Given the description of an element on the screen output the (x, y) to click on. 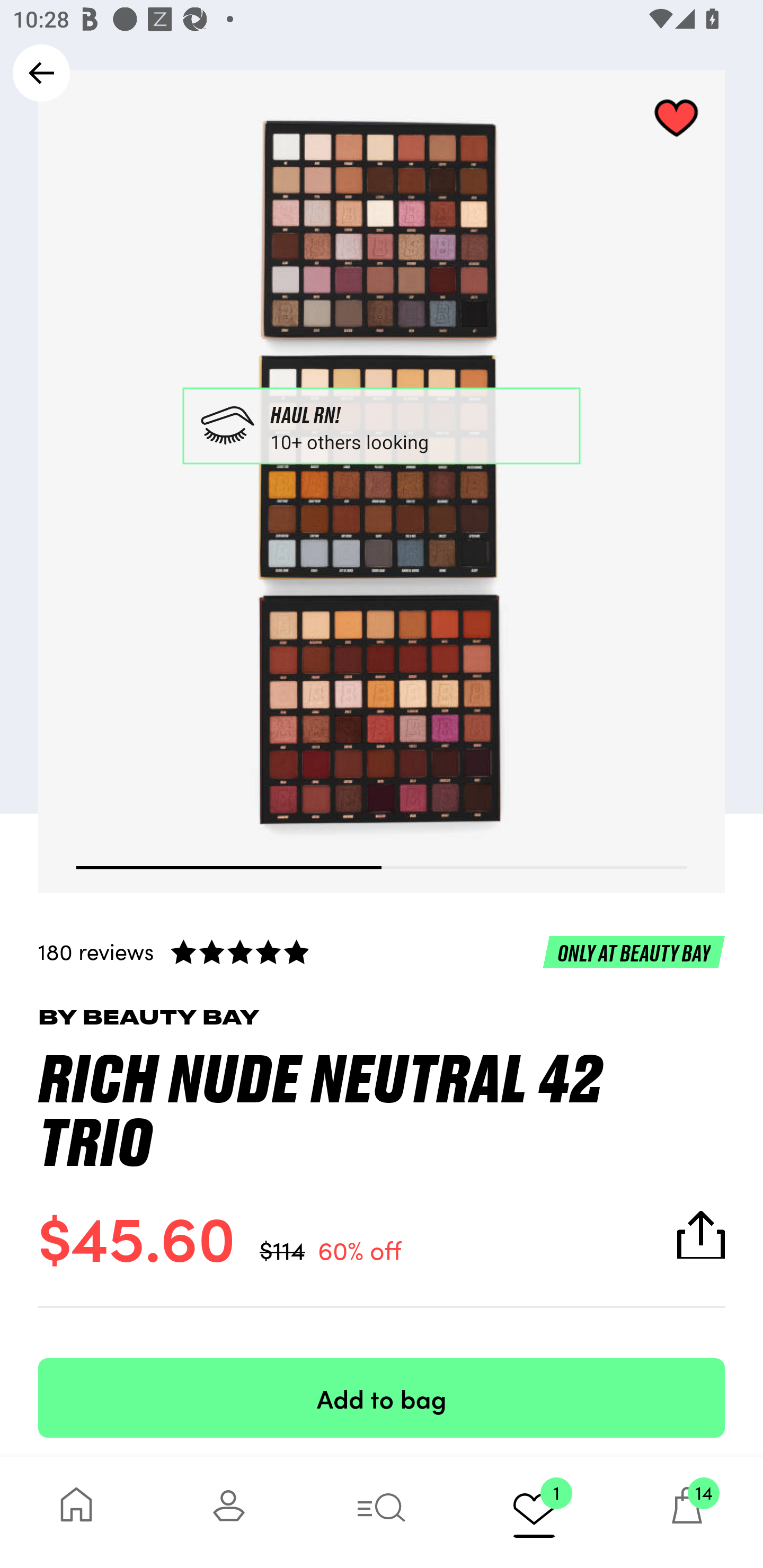
180 reviews (381, 950)
Add to bag (381, 1397)
1 (533, 1512)
14 (686, 1512)
